Given the description of an element on the screen output the (x, y) to click on. 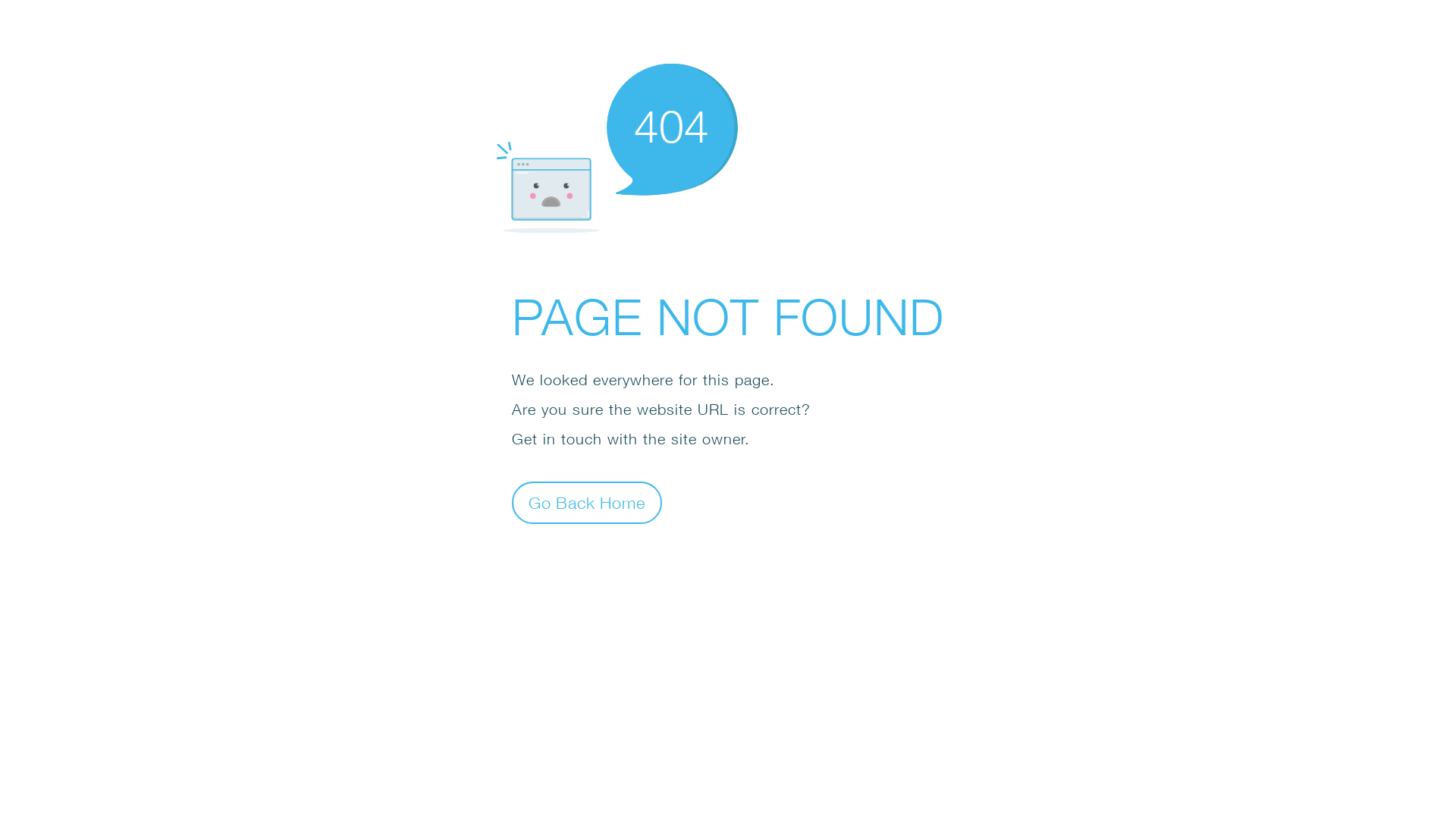
Go Back Home Element type: text (586, 502)
